Given the description of an element on the screen output the (x, y) to click on. 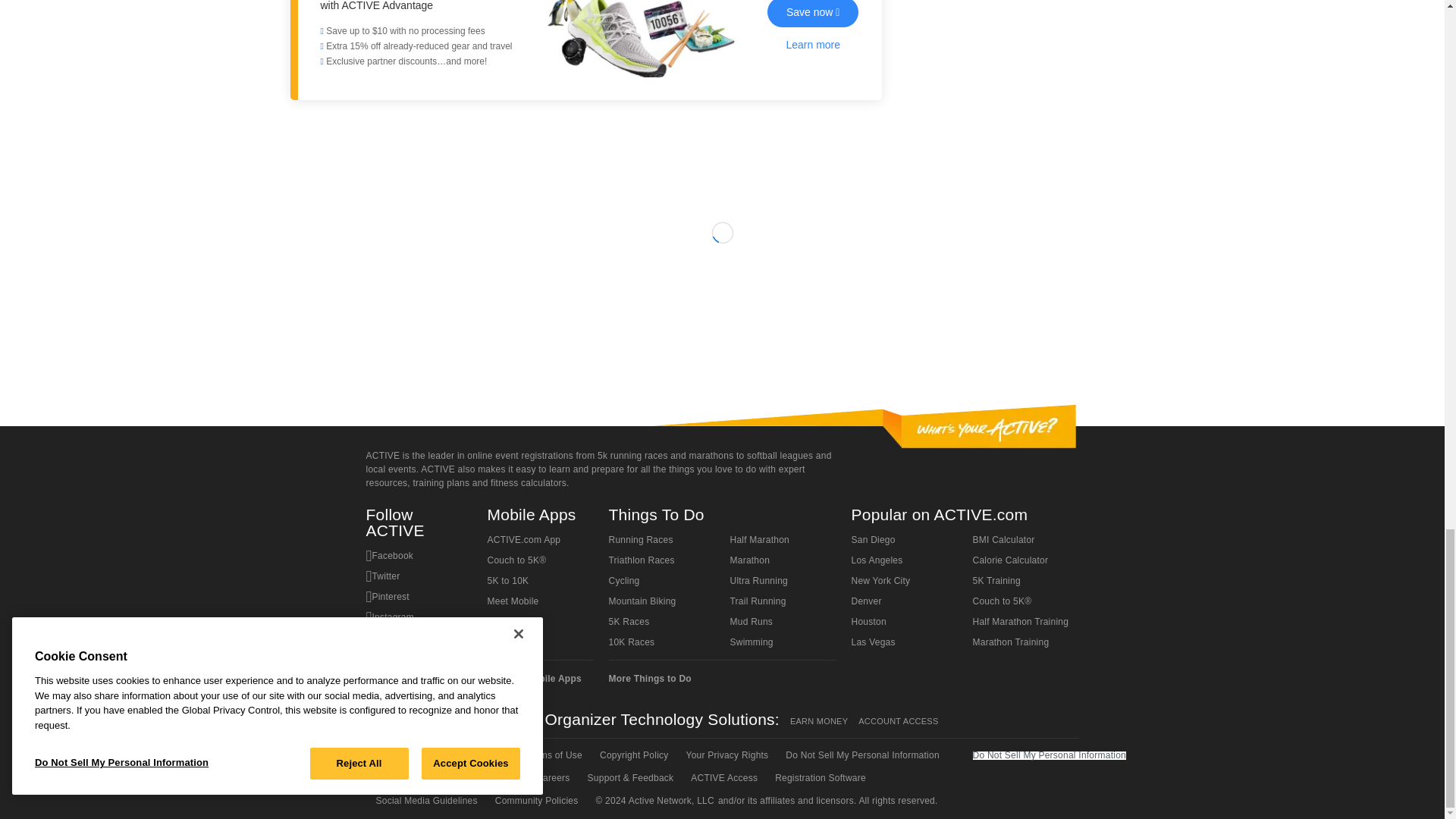
Terms of Use (552, 754)
Your Privacy Rights: Updated (726, 754)
Cookie Policy (403, 777)
3rd party ad content (721, 315)
Privacy Settings (483, 777)
Careers at Active (550, 777)
Do Not Sell My Personal Information (861, 754)
Copyright Policy (633, 754)
